Given the description of an element on the screen output the (x, y) to click on. 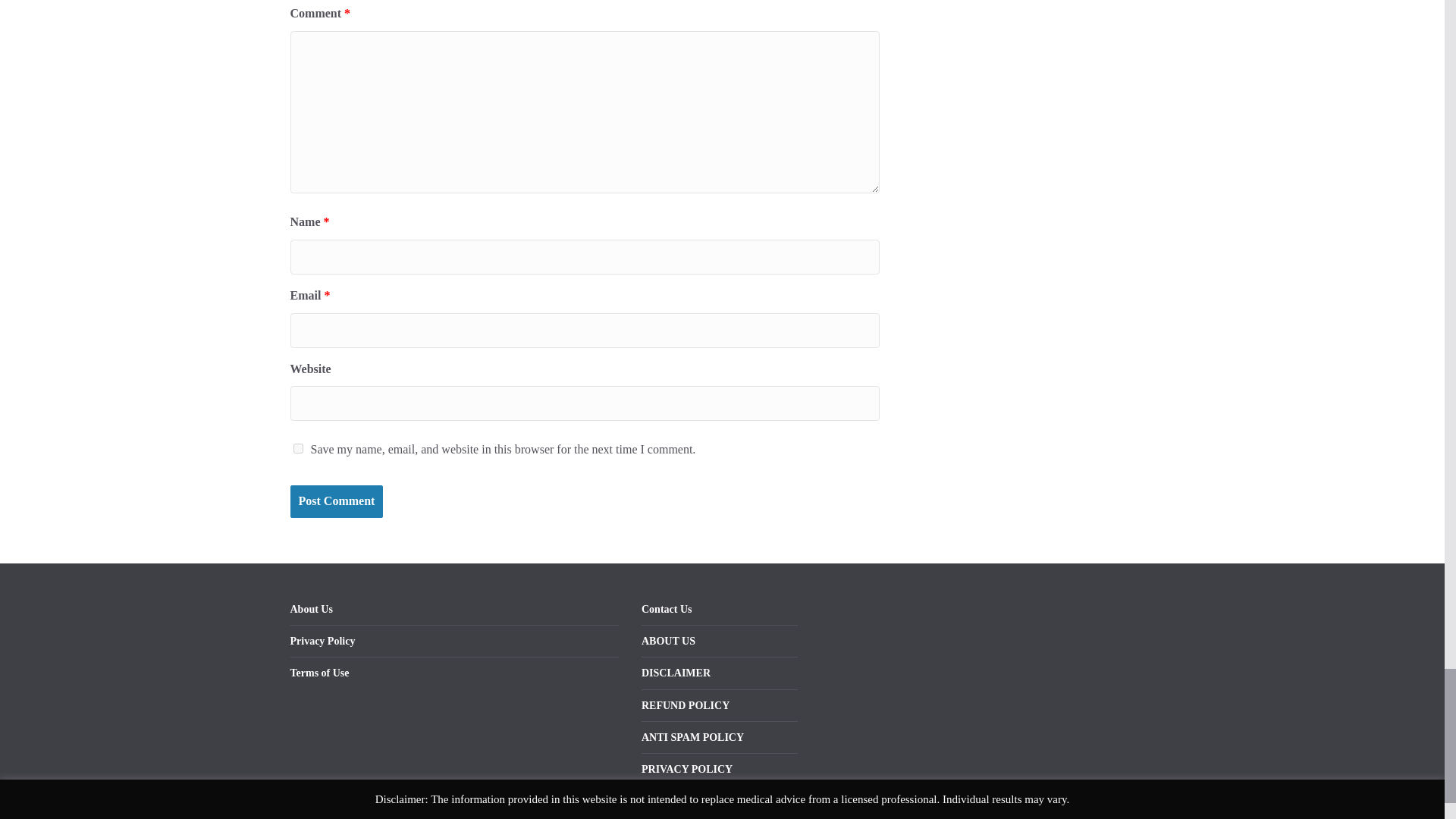
Post Comment (335, 501)
Post Comment (335, 501)
yes (297, 448)
